Given the description of an element on the screen output the (x, y) to click on. 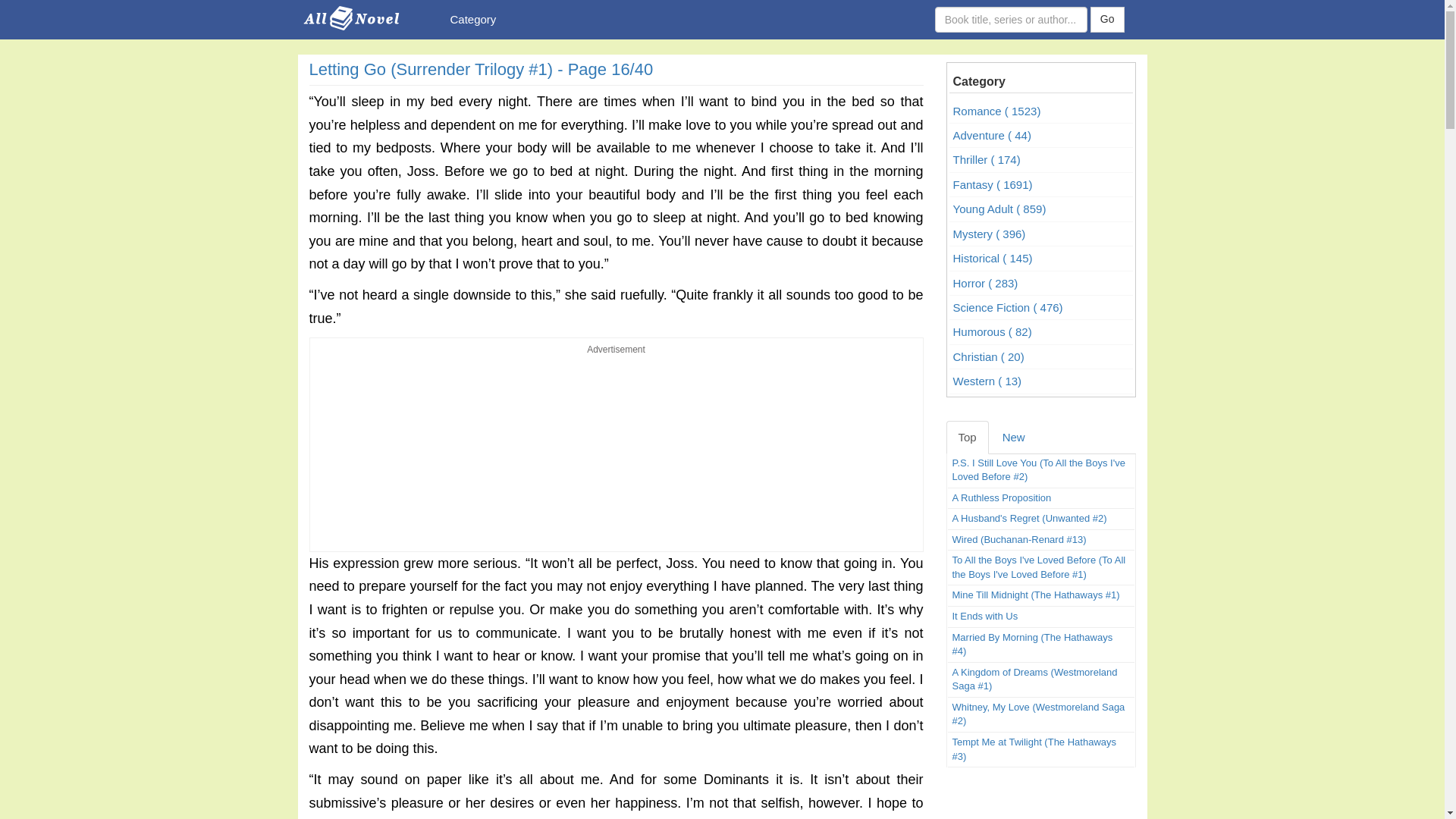
Category (472, 19)
Go (1107, 19)
Adventure (1040, 135)
Romance (1040, 111)
